Given the description of an element on the screen output the (x, y) to click on. 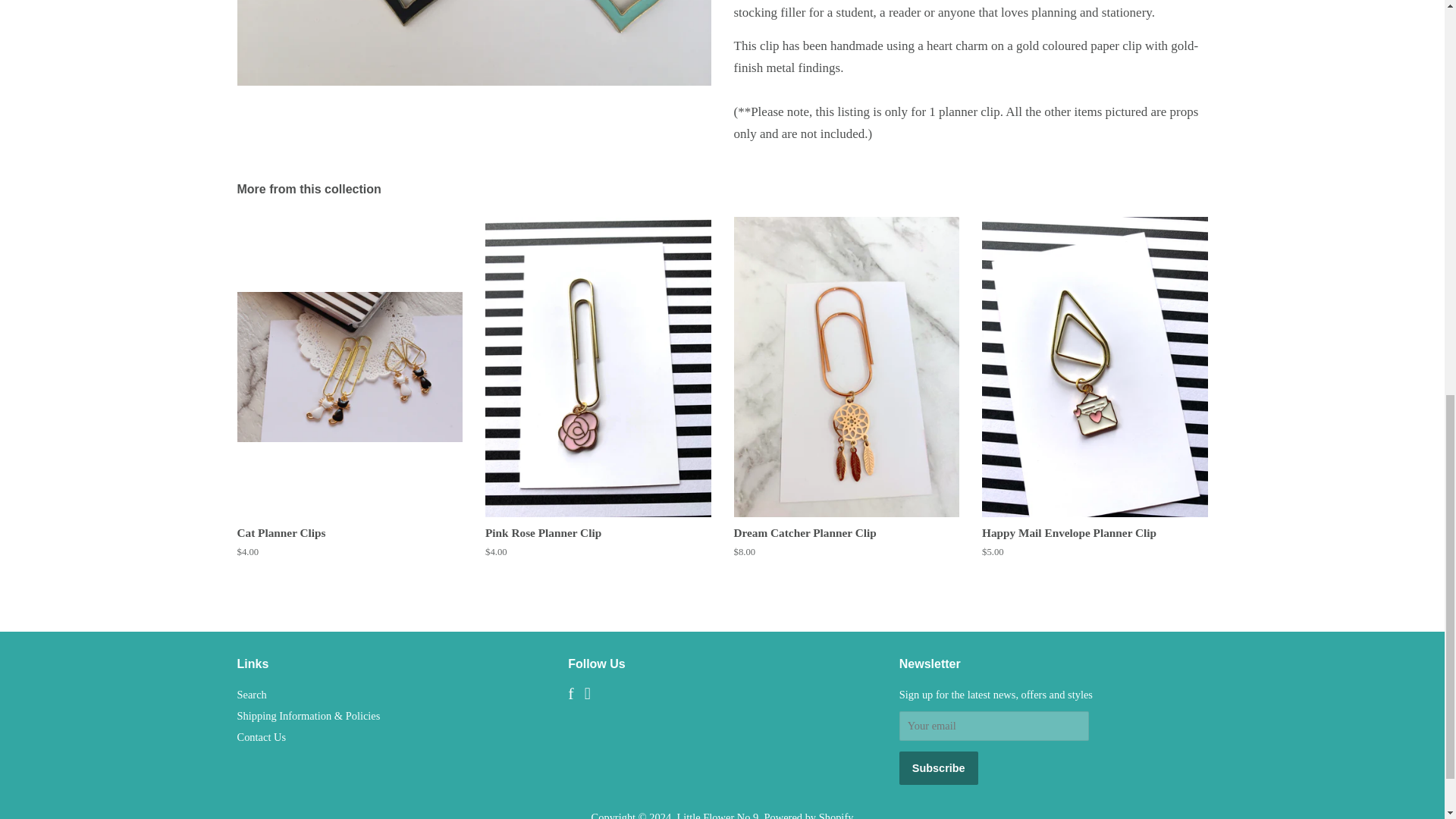
Subscribe (938, 767)
